Given the description of an element on the screen output the (x, y) to click on. 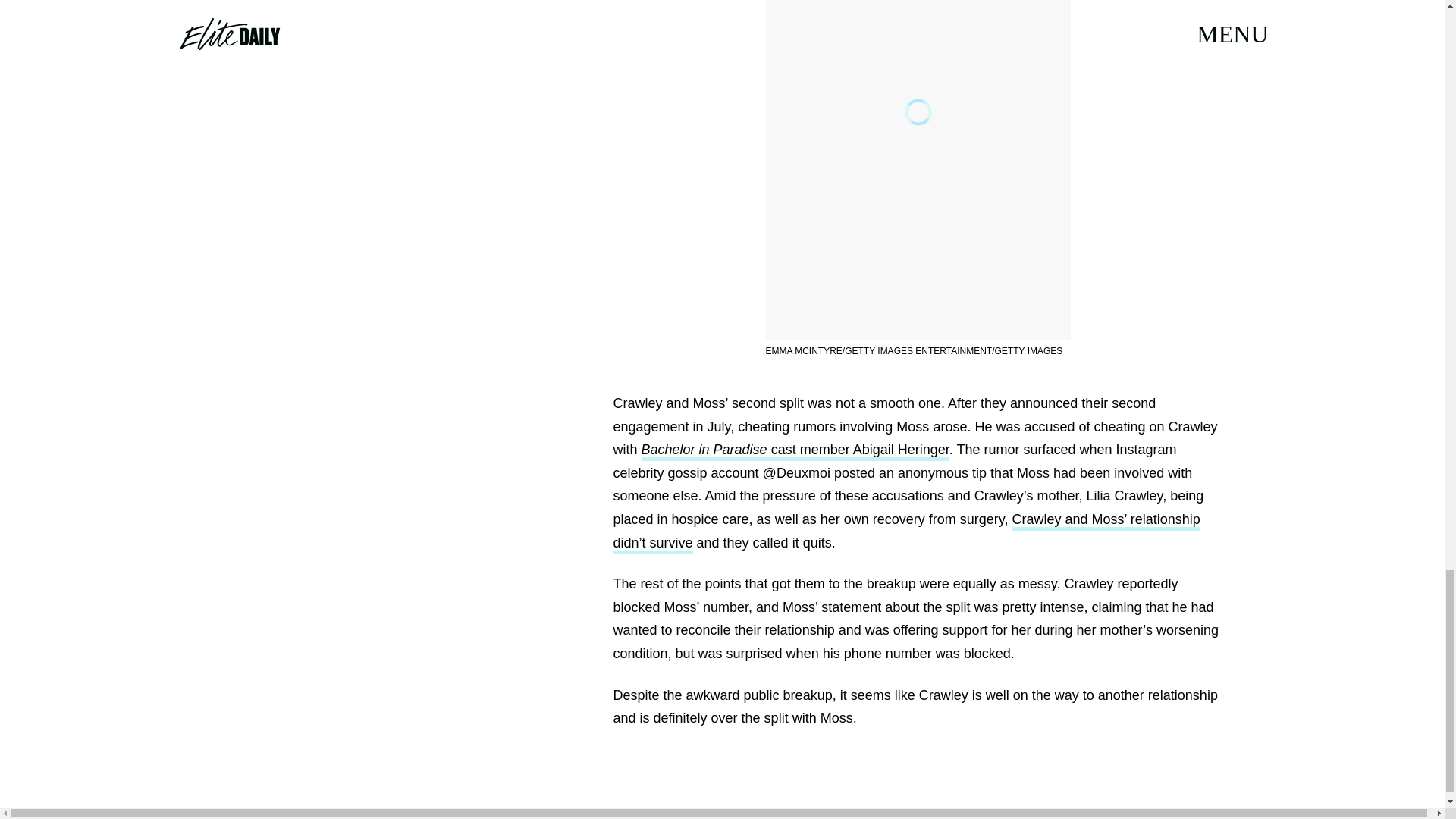
Bachelor in Paradise (706, 451)
cast member Abigail Heringer (860, 451)
